Given the description of an element on the screen output the (x, y) to click on. 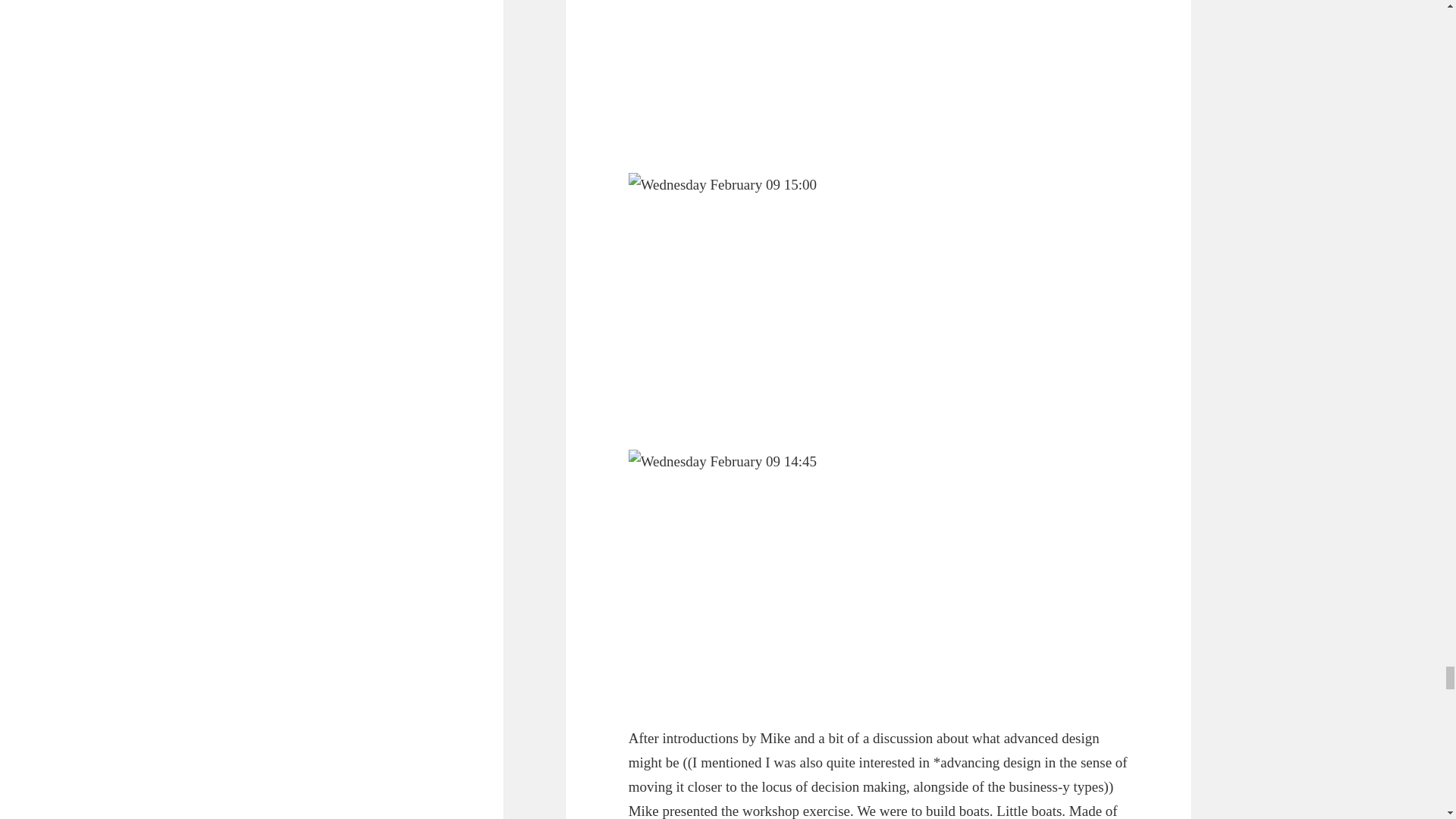
Wednesday February 09 14:45 by JulianBleecker, on Flickr (878, 575)
Wednesday February 09 15:06 by JulianBleecker, on Flickr (878, 74)
Wednesday February 09 15:00 by JulianBleecker, on Flickr (878, 298)
